Given the description of an element on the screen output the (x, y) to click on. 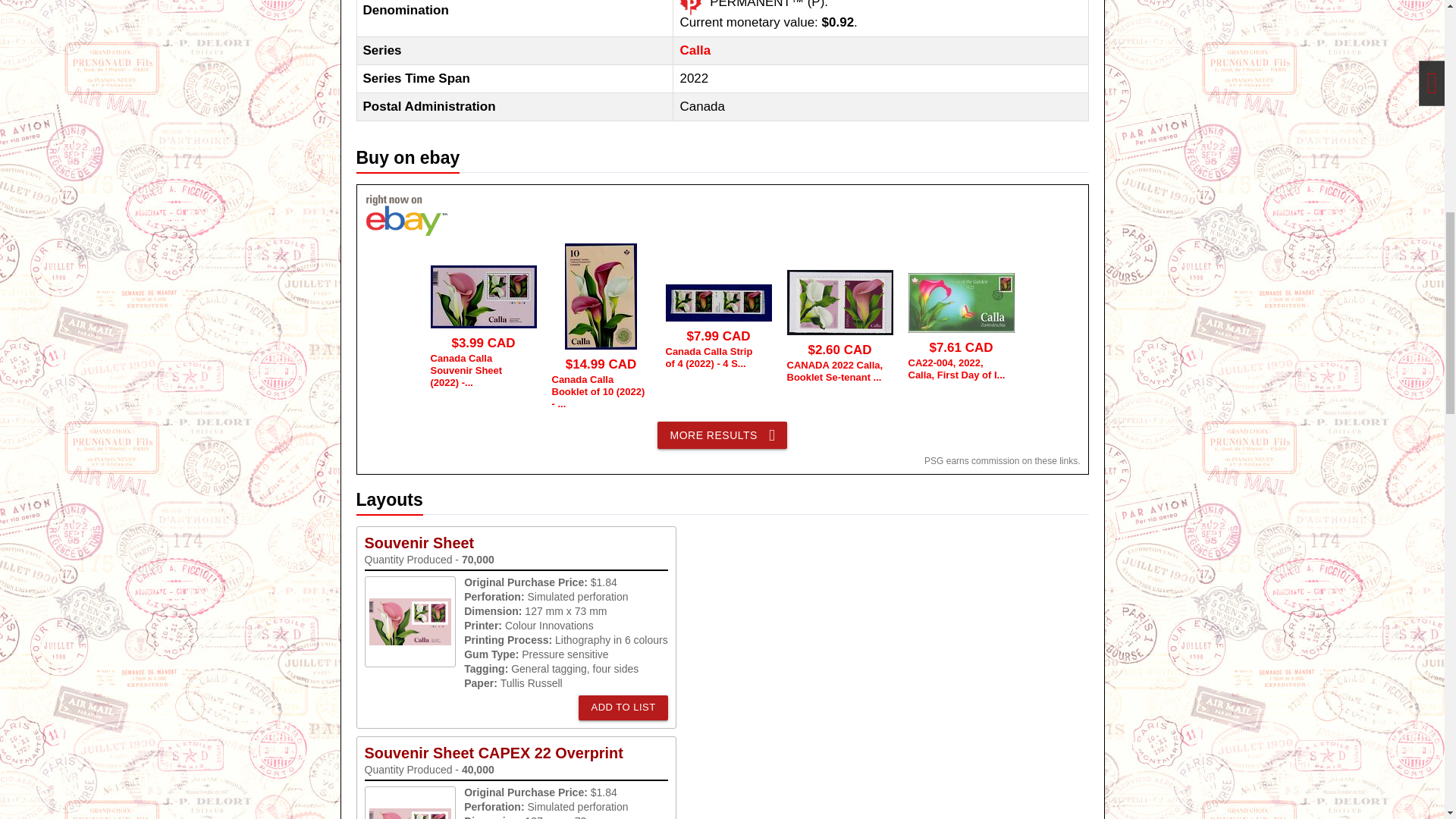
Calla (694, 50)
MORE RESULTS (722, 434)
3rd party ad content (1185, 3)
